Given the description of an element on the screen output the (x, y) to click on. 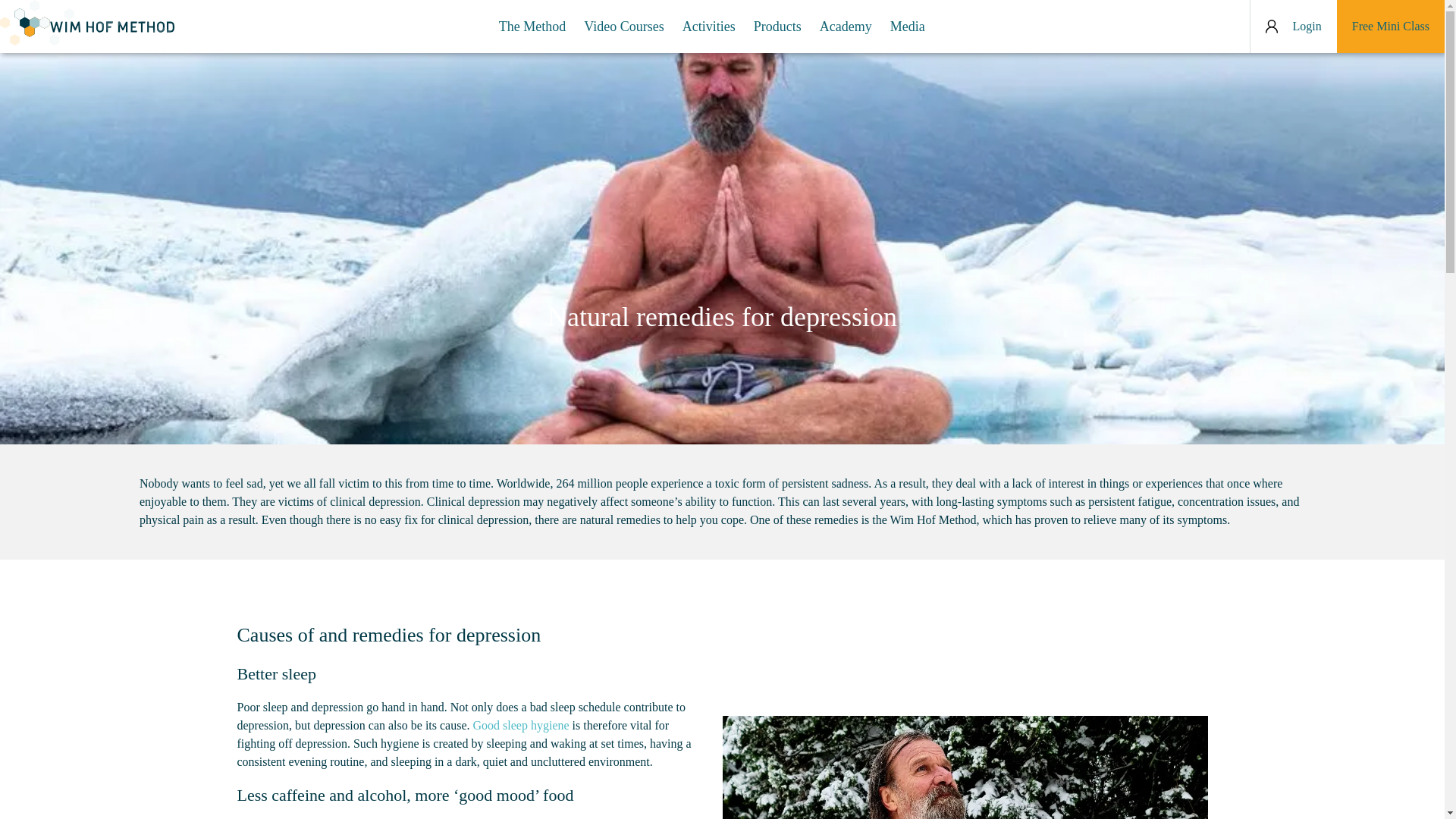
Video Courses (623, 26)
natural remedies and causes (964, 767)
Media (906, 26)
Academy (845, 26)
Activities (708, 26)
Login (1293, 26)
Wim Hof Method (87, 22)
Products (778, 26)
The Method (532, 26)
